Given the description of an element on the screen output the (x, y) to click on. 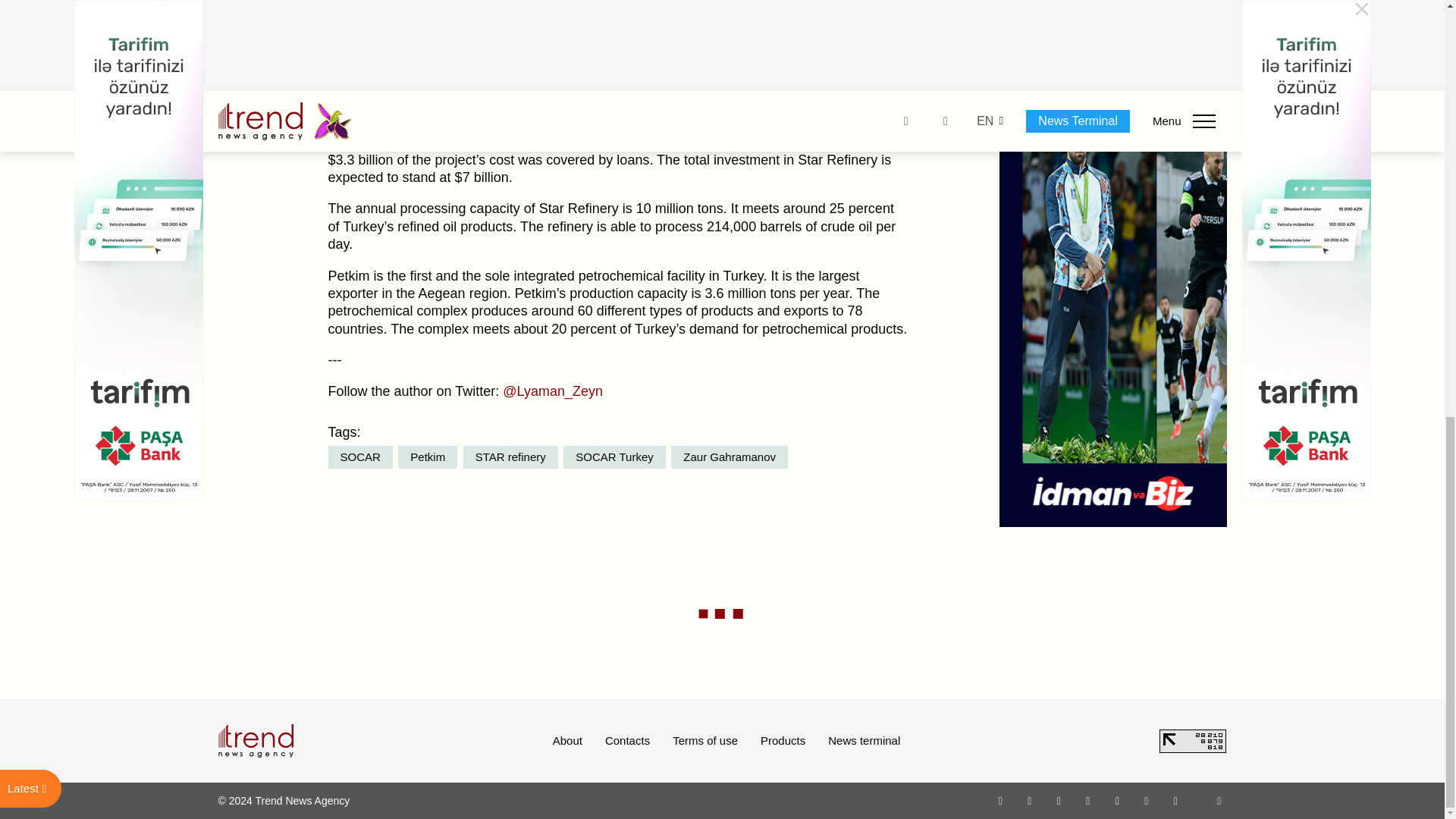
RSS Feed (1219, 800)
Twitter (1059, 800)
LinkedIn (1146, 800)
Telegram (1117, 800)
Facebook (1029, 800)
Youtube (1088, 800)
Whatsapp (1000, 800)
Android App (1176, 800)
